Given the description of an element on the screen output the (x, y) to click on. 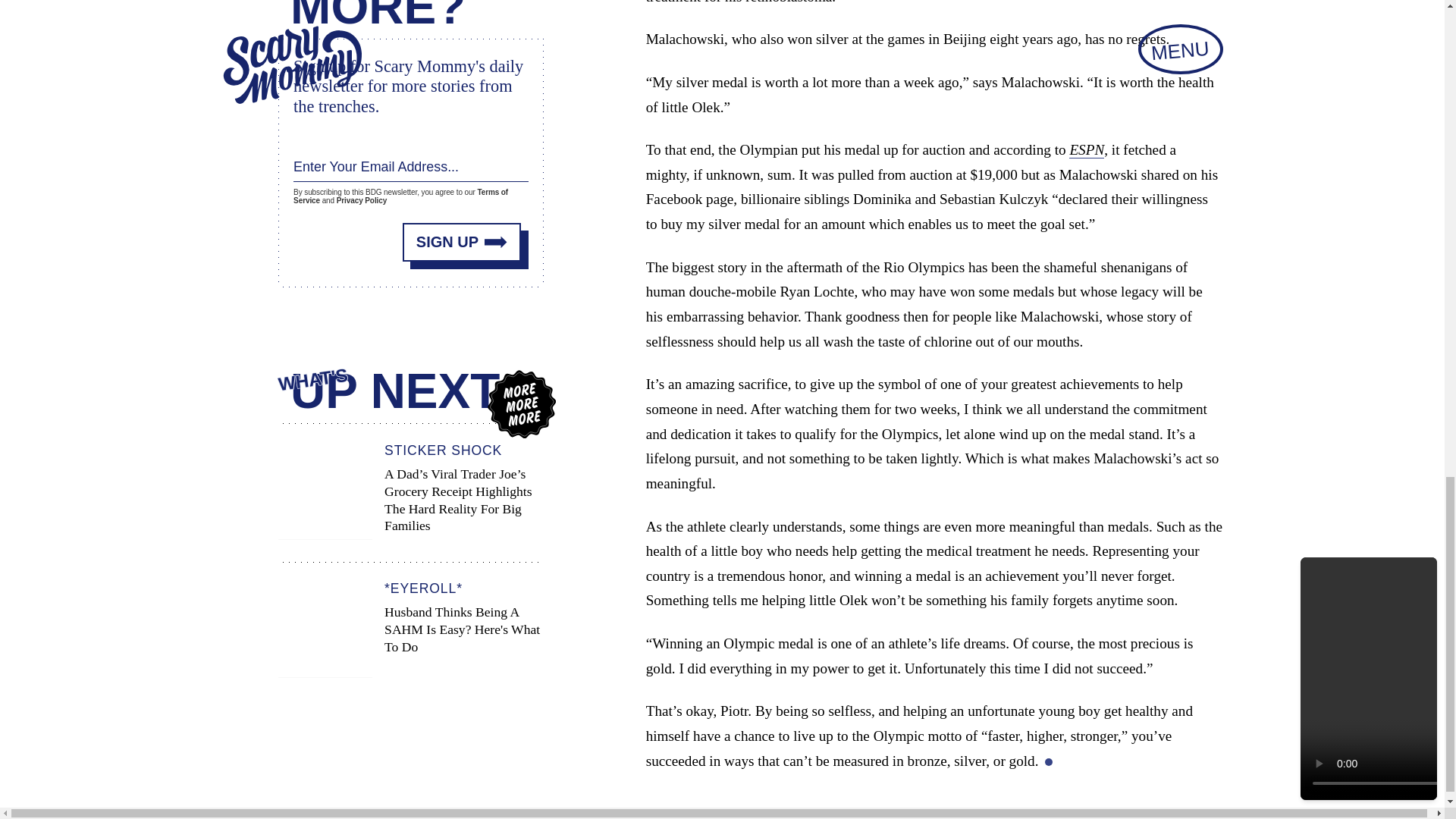
ESPN (1085, 149)
SIGN UP (462, 241)
Terms of Service (401, 196)
Privacy Policy (361, 200)
